Given the description of an element on the screen output the (x, y) to click on. 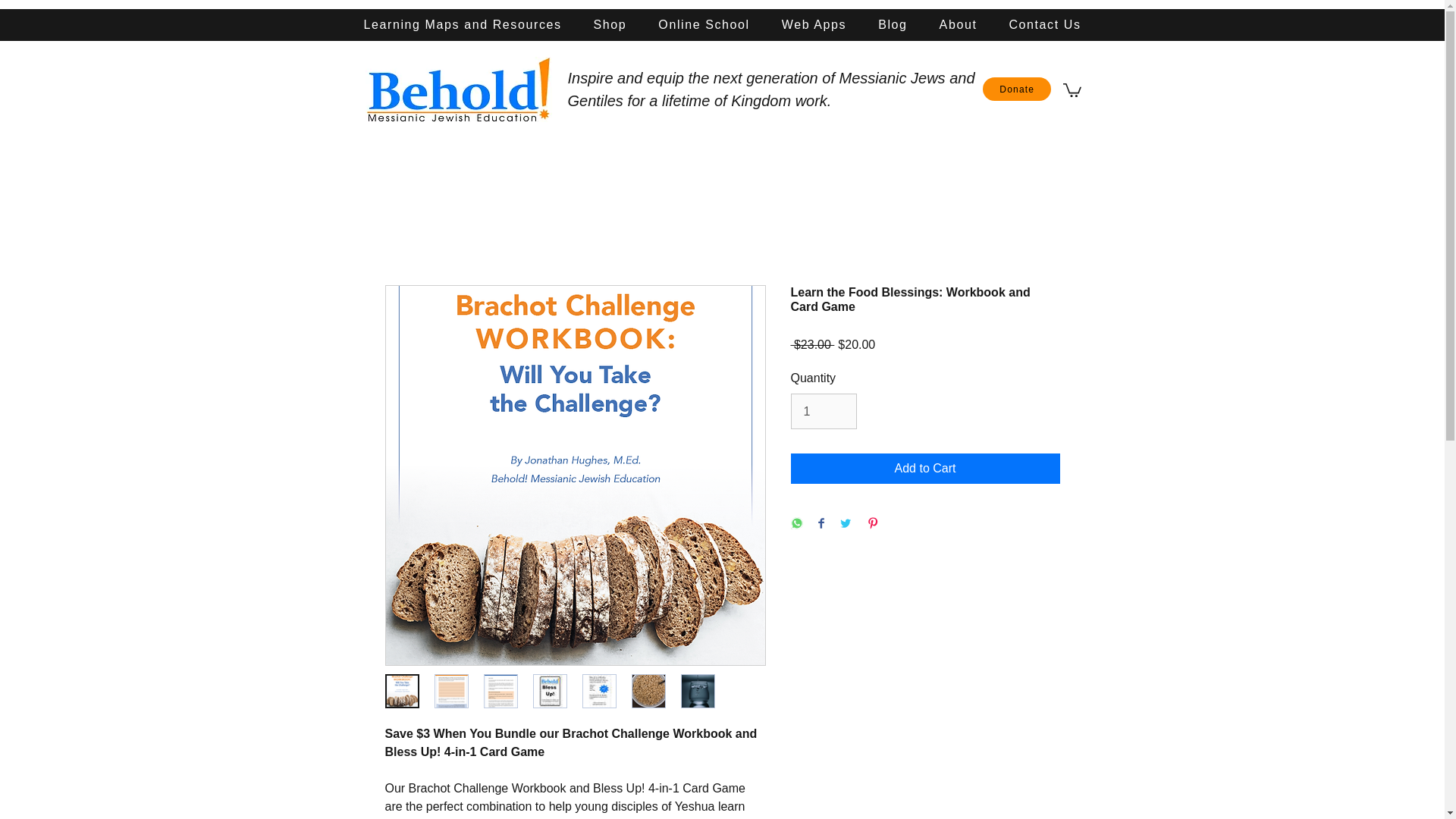
Online School (703, 24)
Learning Maps and Resources (461, 24)
Donate (1016, 88)
1 (823, 410)
Blog (892, 24)
Shop (610, 24)
Add to Cart (924, 468)
Web Apps (813, 24)
About (958, 24)
Contact Us (1044, 24)
